Given the description of an element on the screen output the (x, y) to click on. 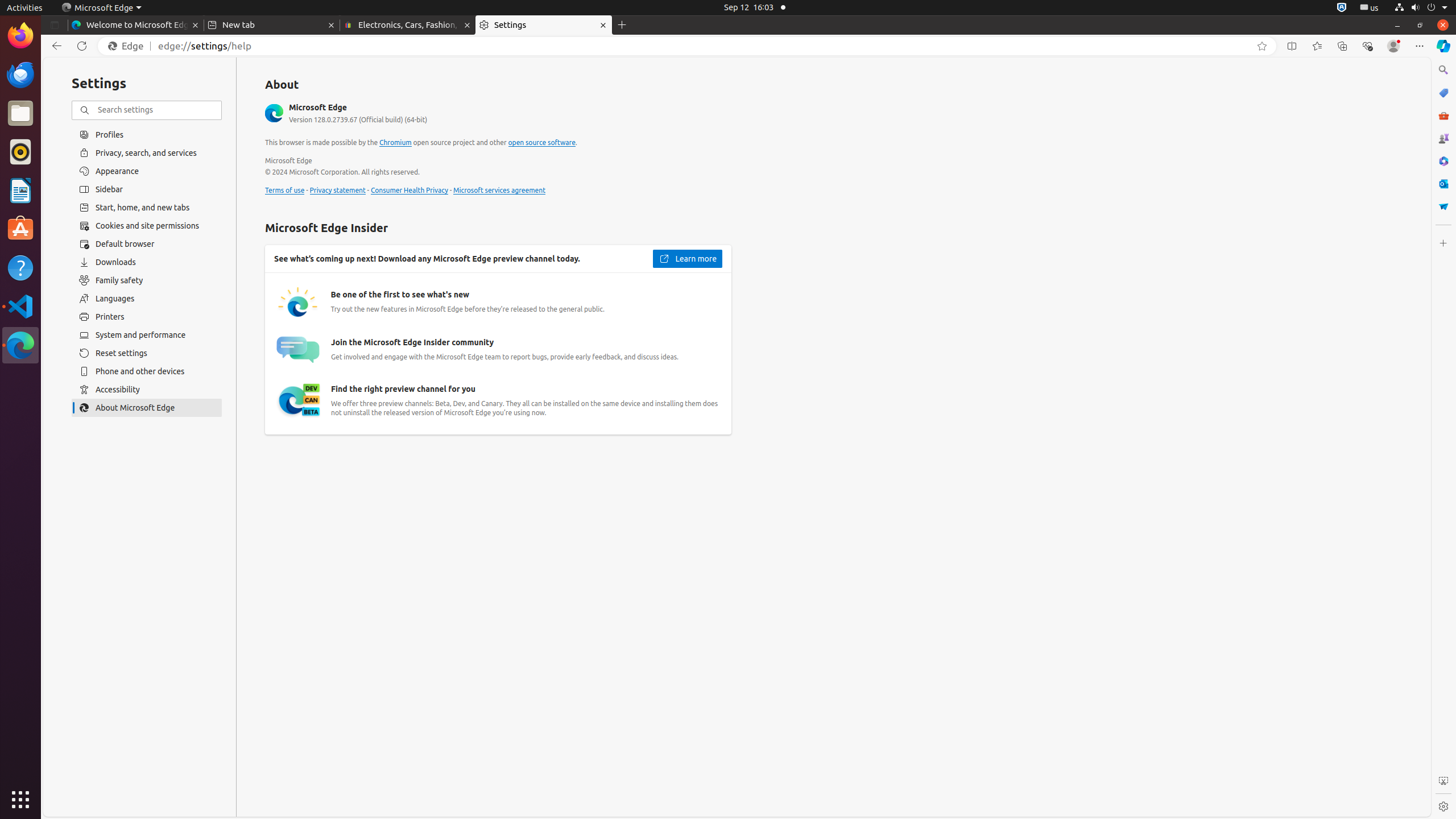
Split screen Element type: push-button (1291, 45)
Microsoft Edge Element type: push-button (20, 344)
Reset settings Element type: tree-item (146, 353)
Edge Element type: push-button (128, 46)
LibreOffice Writer Element type: push-button (20, 190)
